Given the description of an element on the screen output the (x, y) to click on. 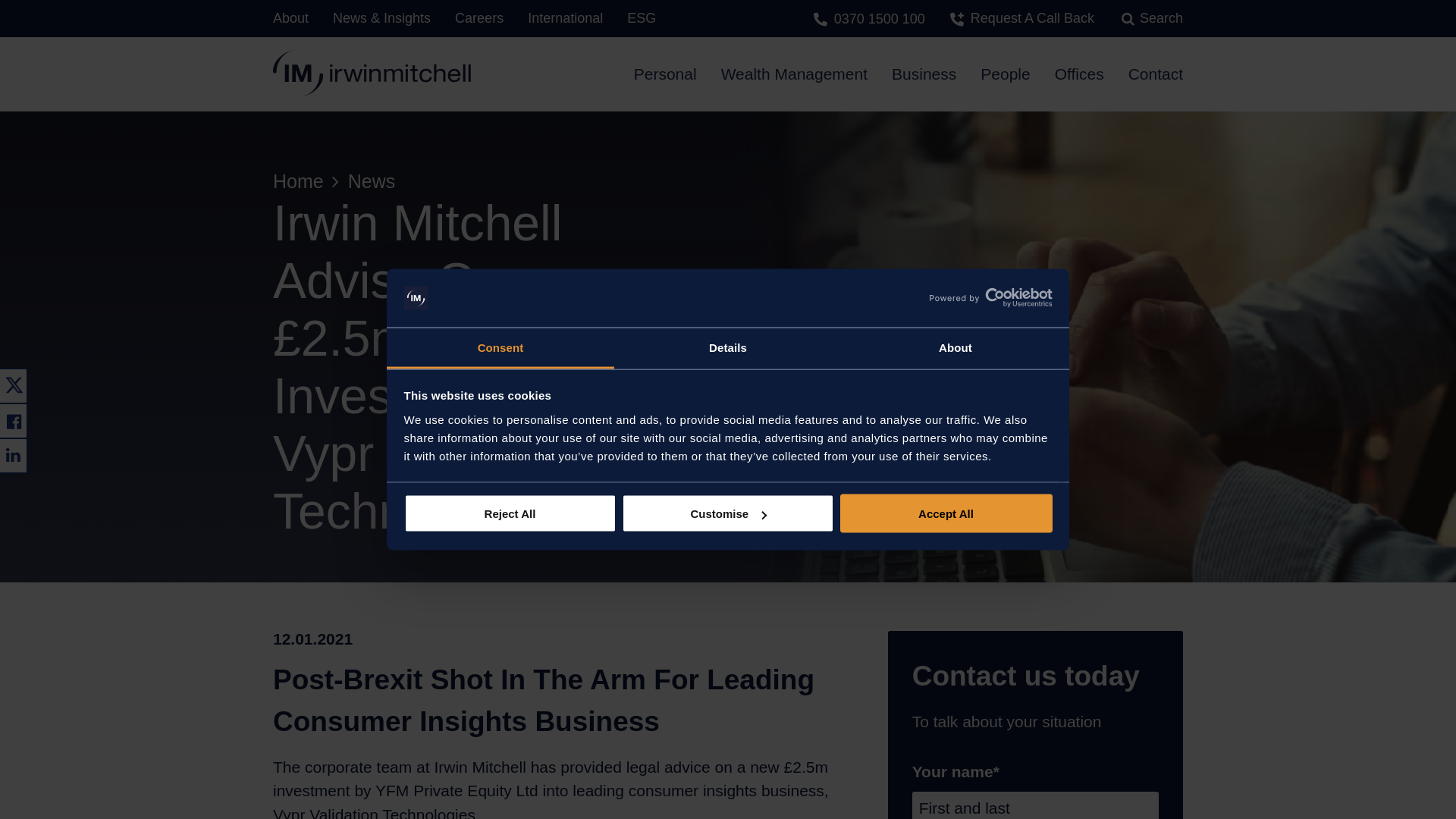
About (954, 347)
Consent (500, 347)
Details (727, 347)
